Given the description of an element on the screen output the (x, y) to click on. 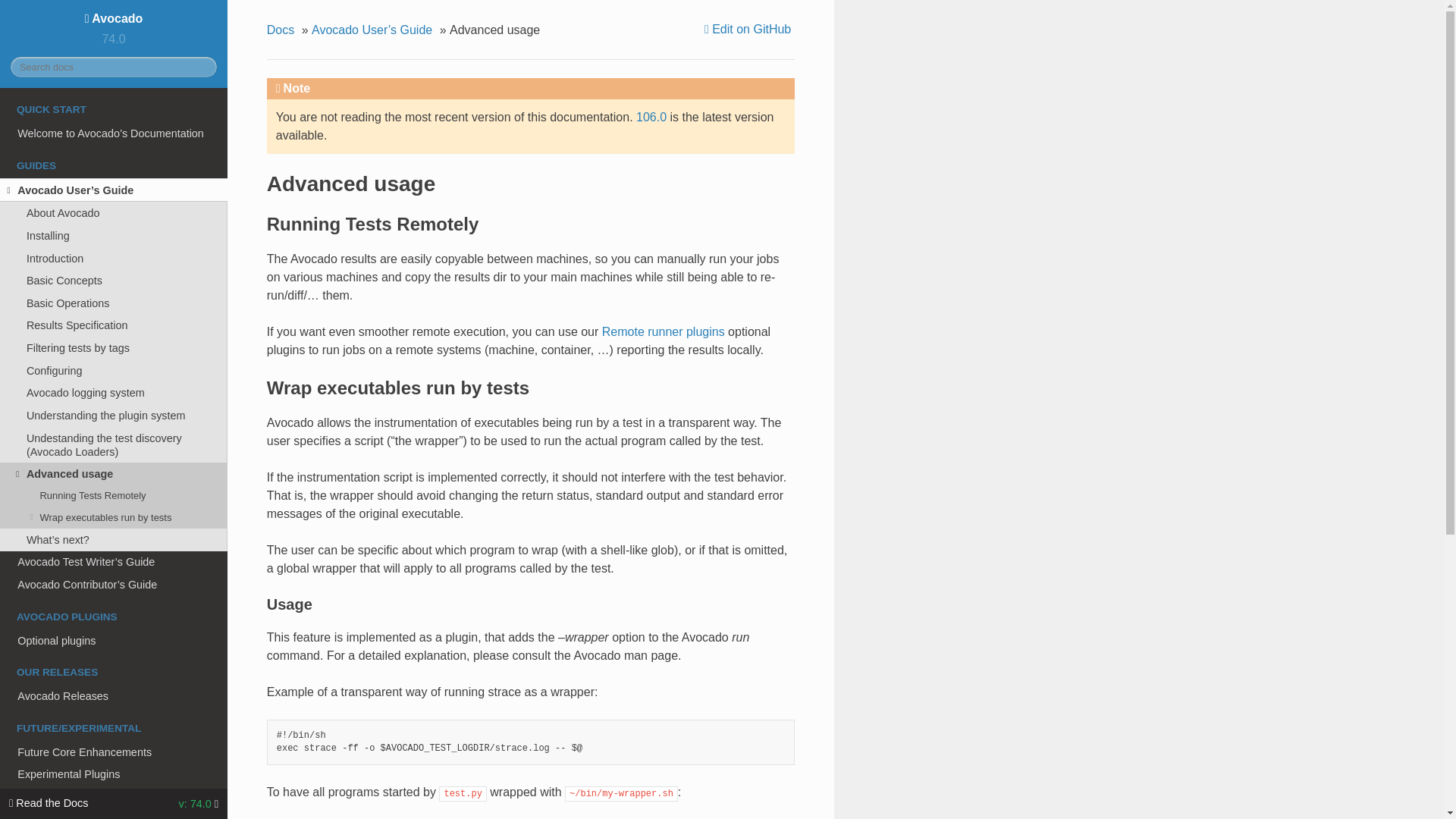
About Avocado (113, 212)
Running Tests Remotely (113, 495)
Results Specification (113, 325)
Remote runner plugins (663, 331)
Configuring (113, 370)
Avocado (114, 18)
Basic Concepts (113, 280)
Installing (113, 235)
Experimental Plugins (113, 774)
Edit on GitHub (749, 29)
